Given the description of an element on the screen output the (x, y) to click on. 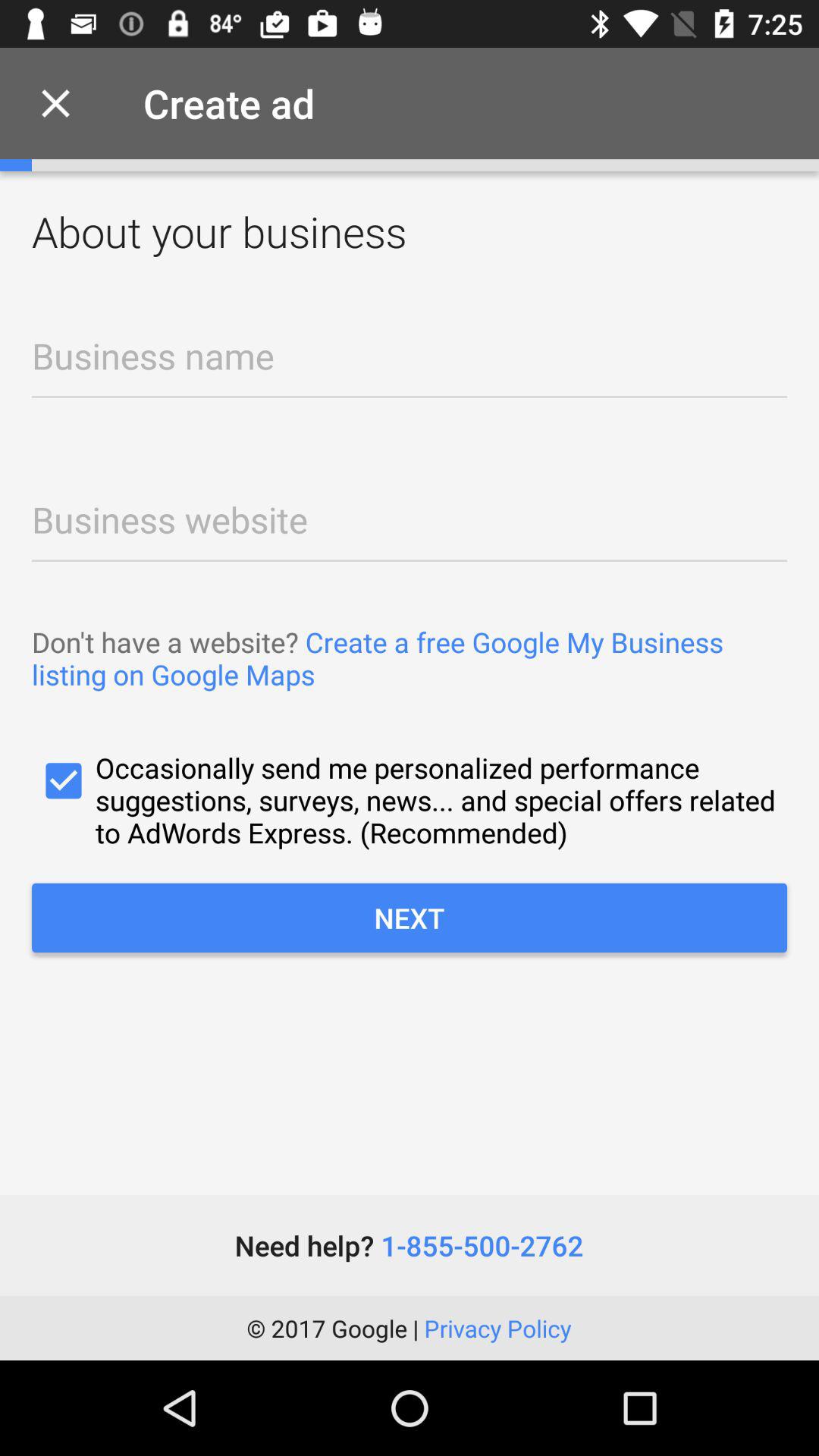
select the icon below about your business item (409, 365)
